Given the description of an element on the screen output the (x, y) to click on. 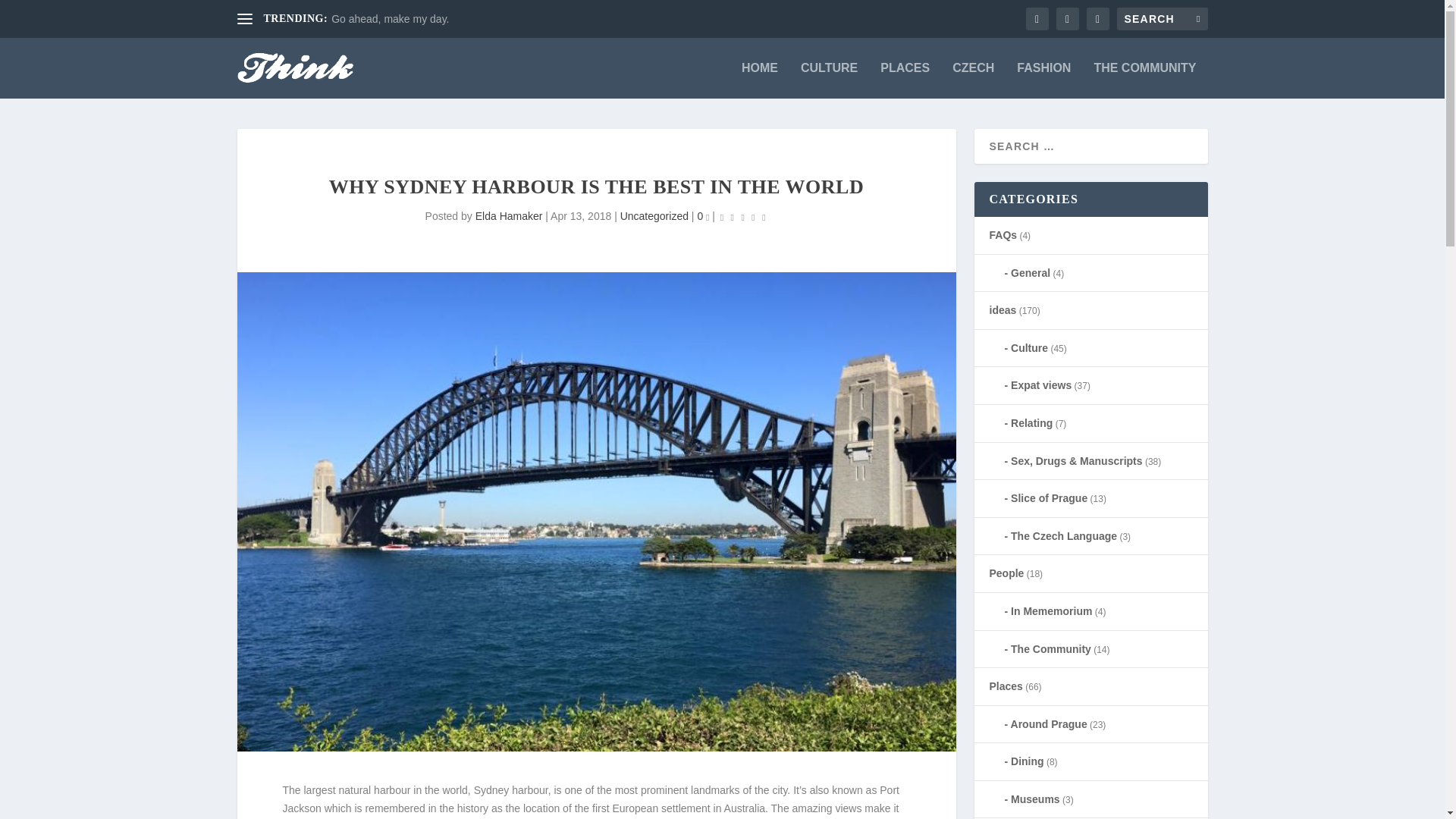
HOME (759, 80)
Posts by Elda Hamaker (509, 215)
PLACES (905, 80)
0 (703, 215)
comment count (707, 217)
CULTURE (828, 80)
Go ahead, make my day. (389, 19)
FASHION (1043, 80)
Elda Hamaker (509, 215)
THE COMMUNITY (1144, 80)
Rating: 0.00 (742, 217)
CZECH (973, 80)
Uncategorized (654, 215)
Search for: (1161, 18)
